Given the description of an element on the screen output the (x, y) to click on. 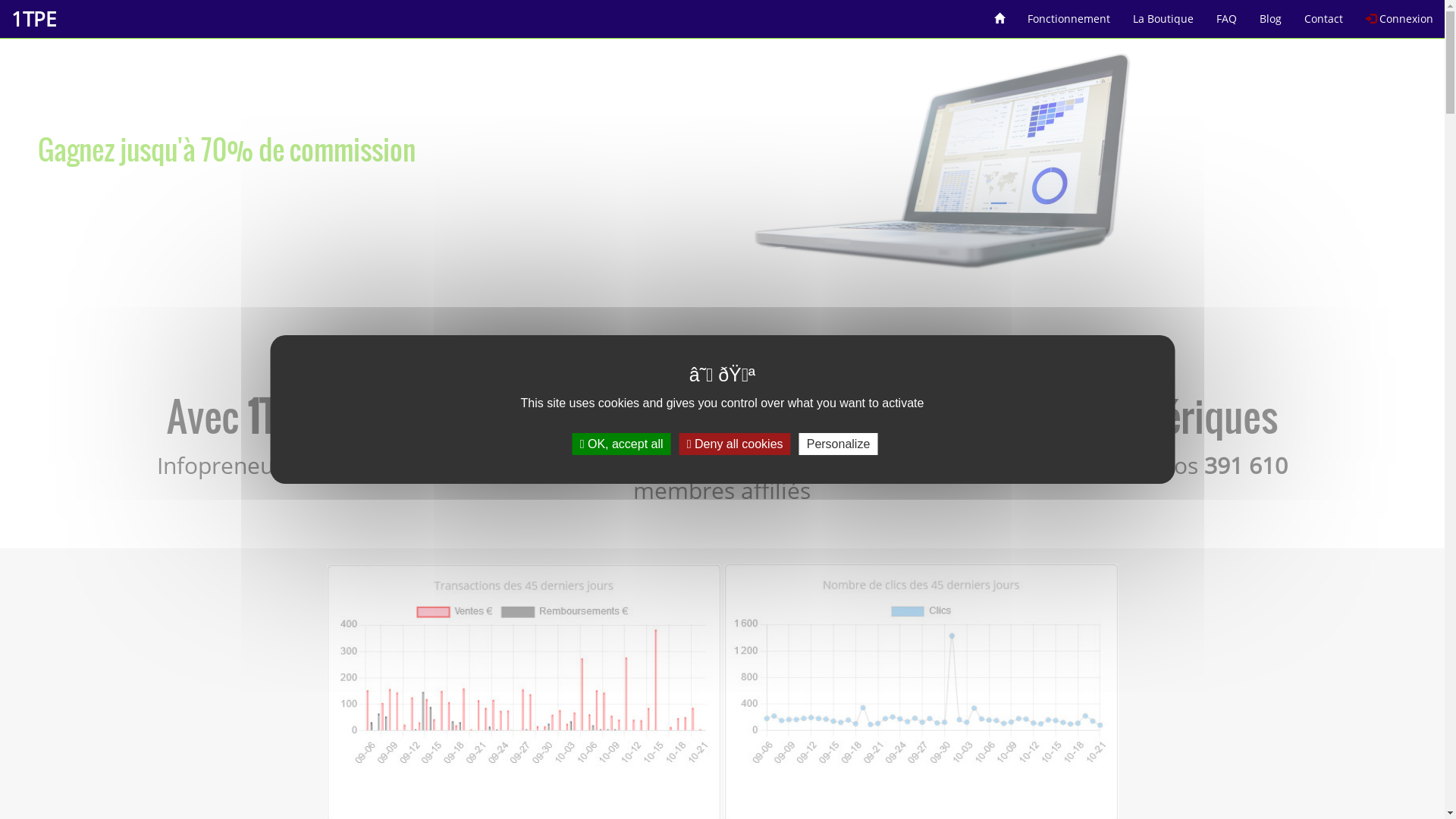
La Boutique Element type: text (1162, 13)
1TPE Element type: text (33, 18)
FAQ Element type: text (1226, 13)
Personalize Element type: text (838, 444)
OK, accept all Element type: text (621, 444)
Blog Element type: text (1270, 13)
Contact Element type: text (1323, 13)
Fonctionnement Element type: text (1068, 13)
Deny all cookies Element type: text (734, 444)
Connexion Element type: text (1399, 13)
